Given the description of an element on the screen output the (x, y) to click on. 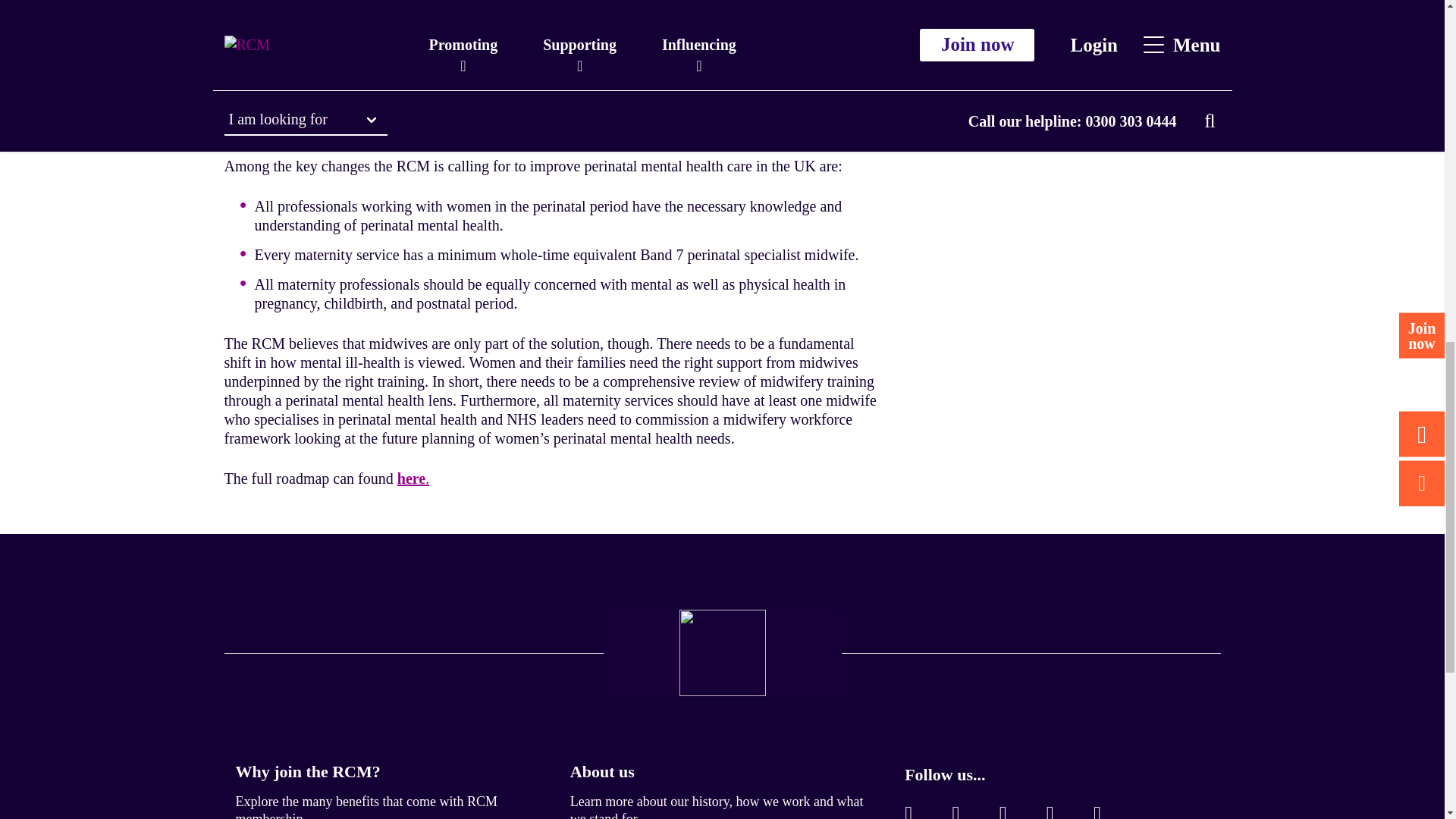
About us (602, 771)
Why join the RCM? (307, 771)
